Given the description of an element on the screen output the (x, y) to click on. 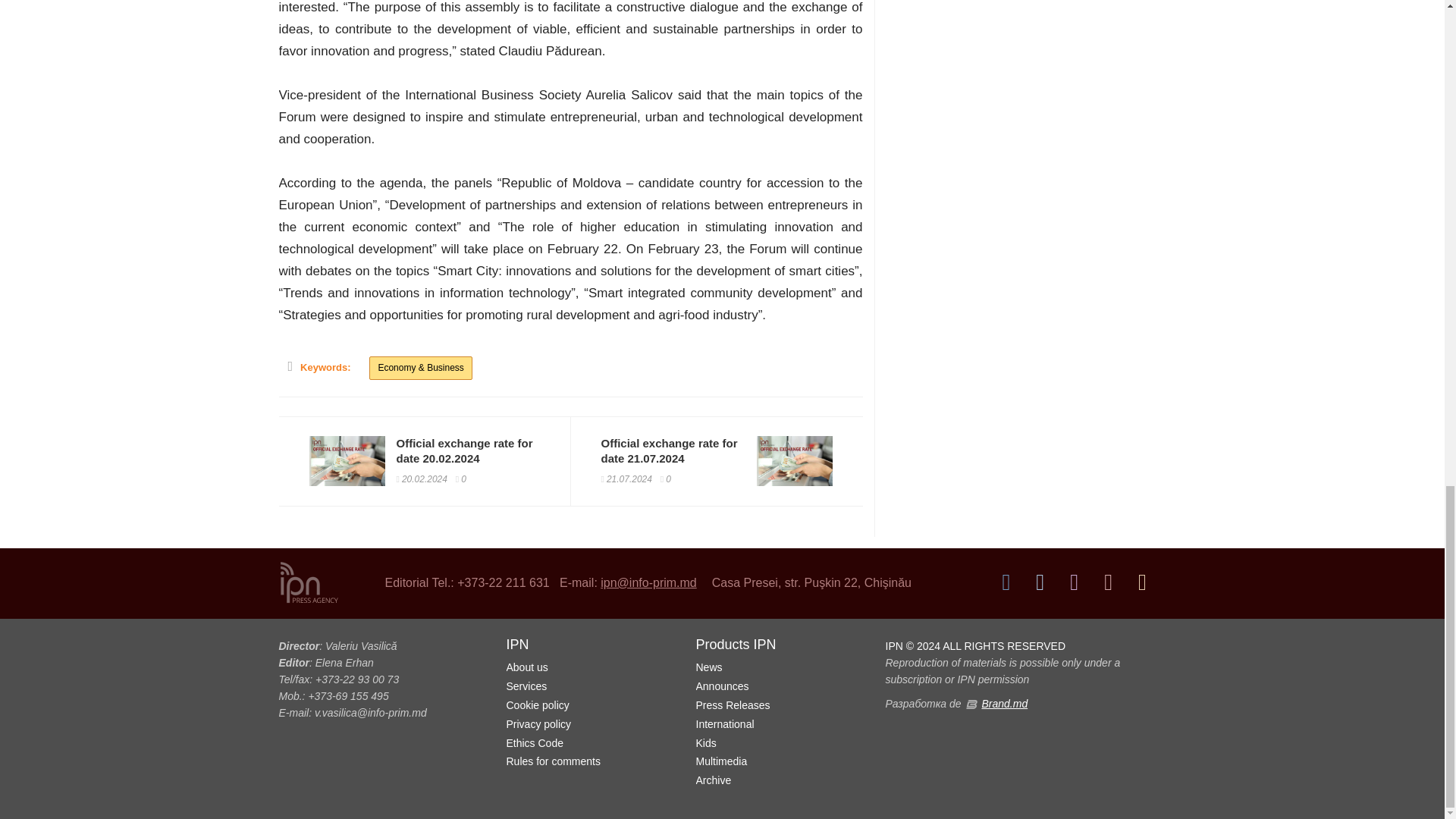
instagram (1074, 582)
twitter (1040, 582)
